Given the description of an element on the screen output the (x, y) to click on. 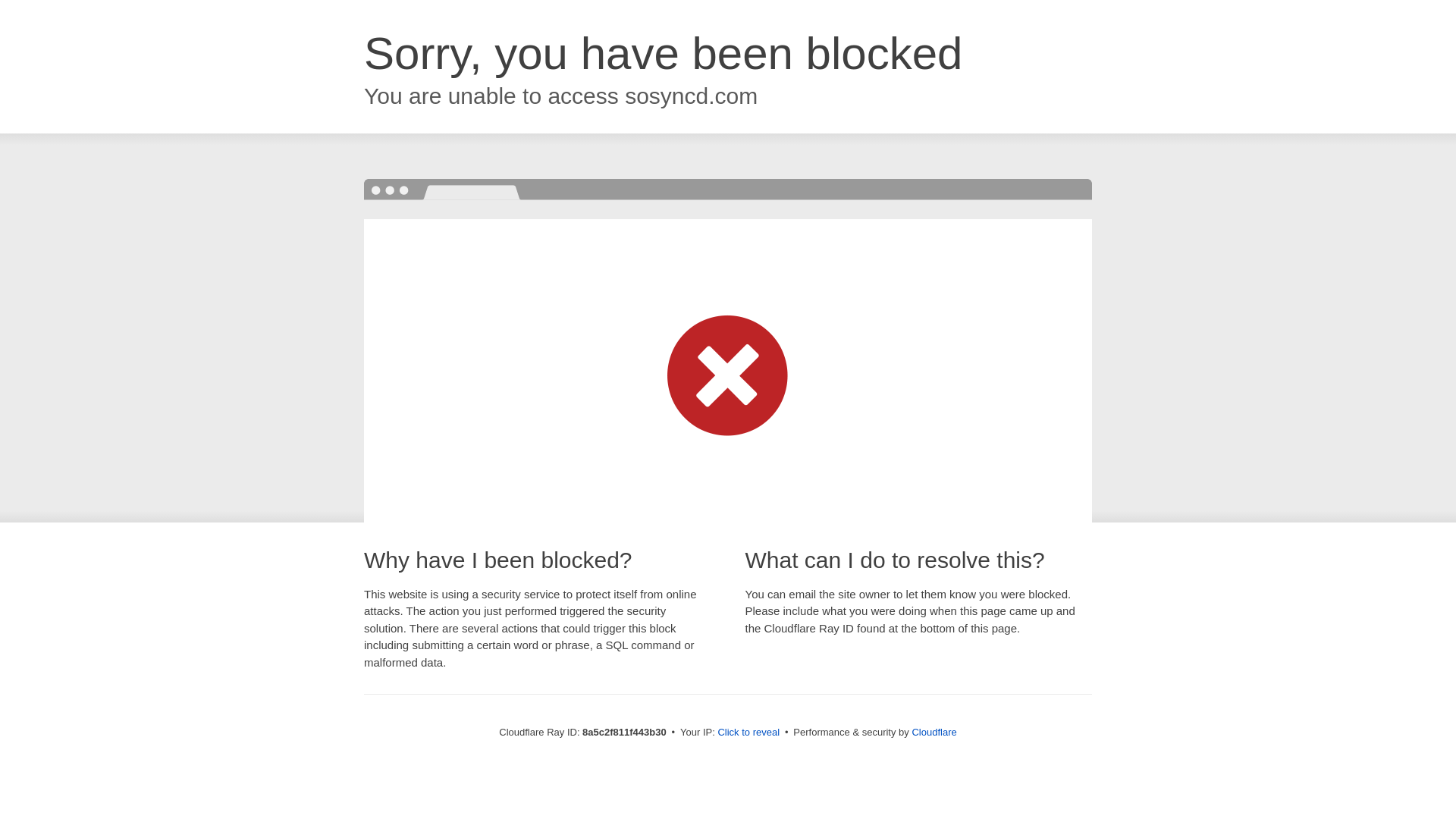
Click to reveal (747, 732)
Cloudflare (933, 731)
